Given the description of an element on the screen output the (x, y) to click on. 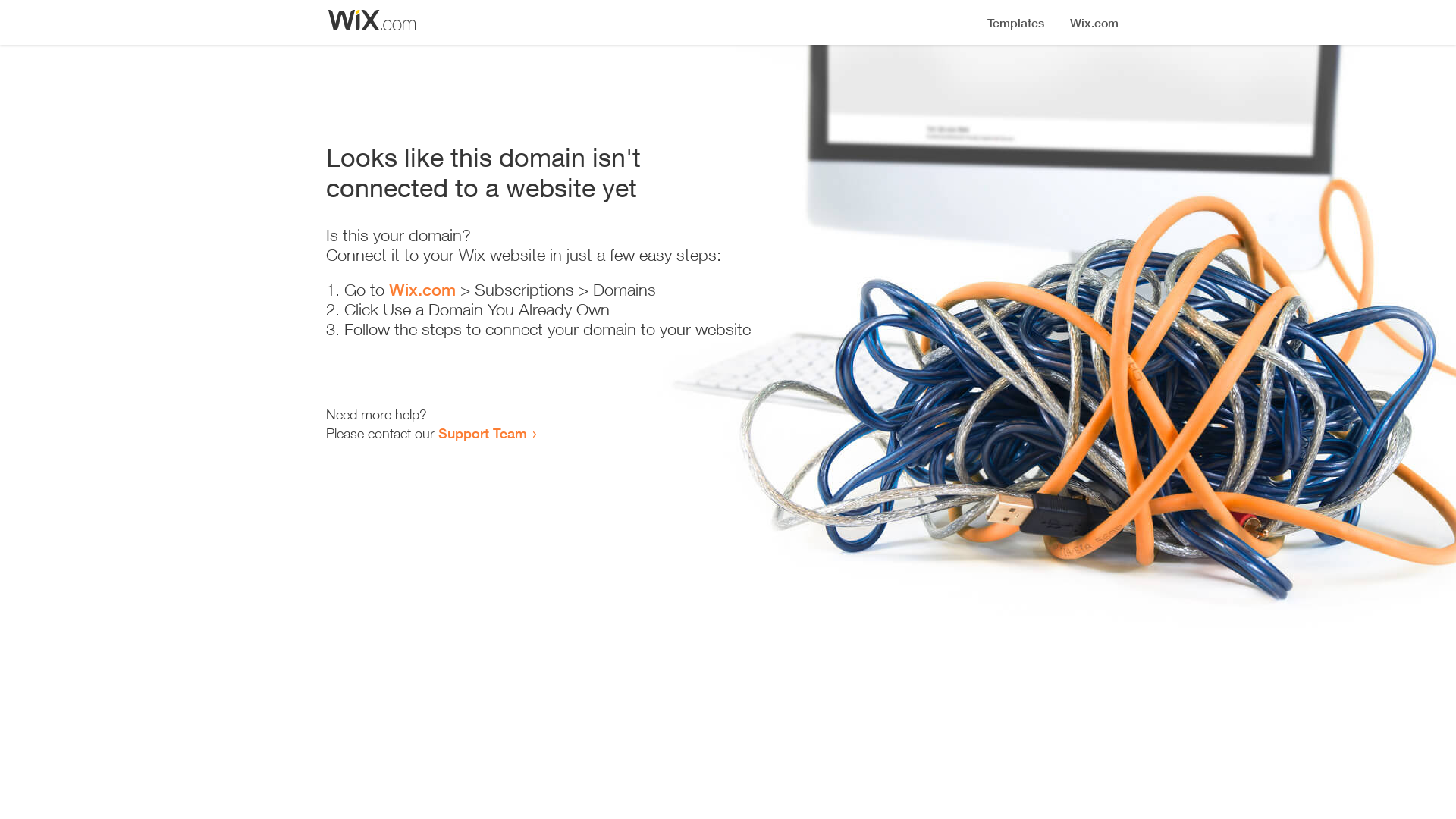
Wix.com Element type: text (422, 289)
Support Team Element type: text (482, 432)
